Given the description of an element on the screen output the (x, y) to click on. 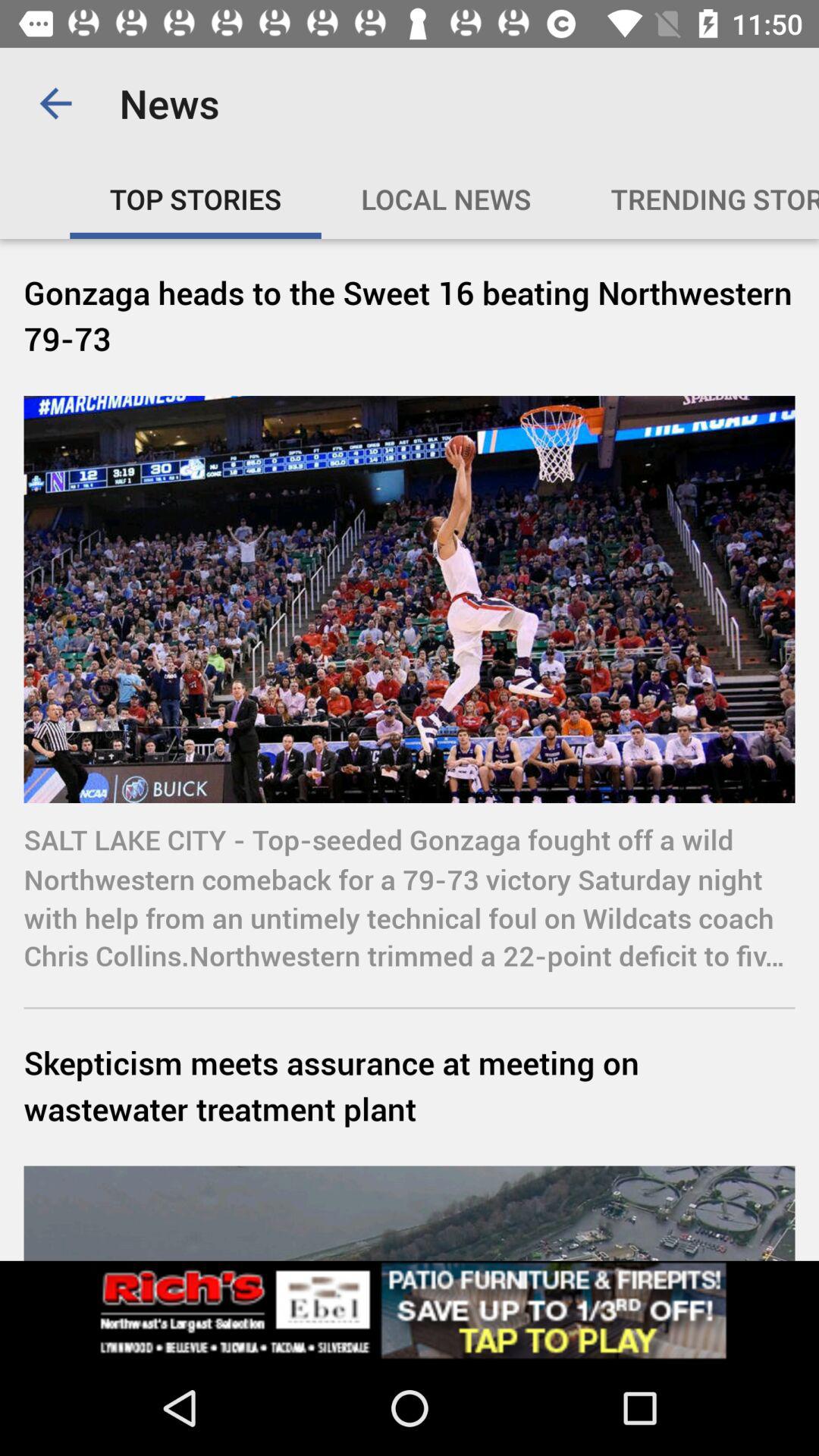
click advertisement to go to advertisement page (409, 1310)
